Given the description of an element on the screen output the (x, y) to click on. 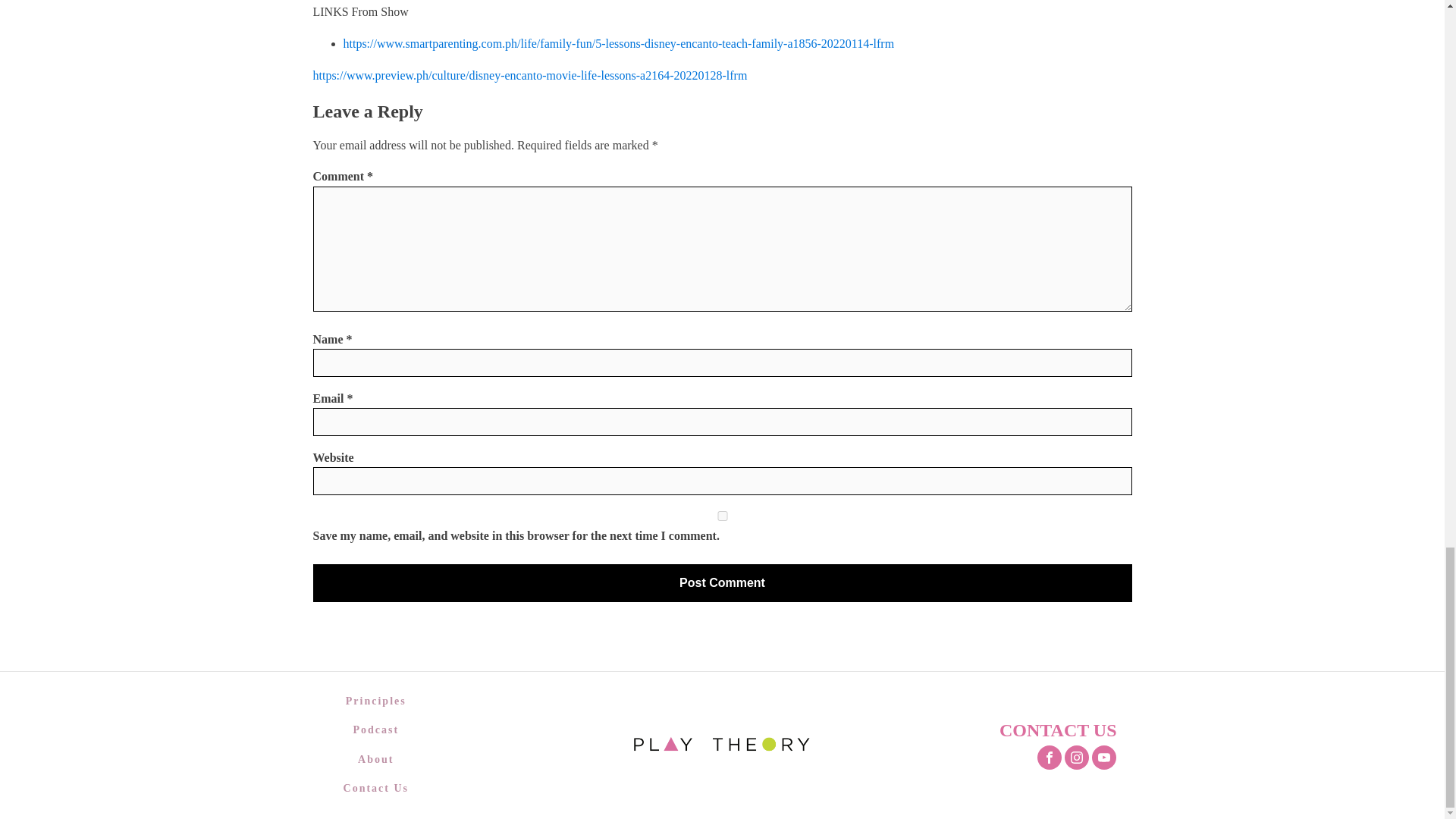
Podcast (377, 729)
Contact Us (377, 788)
Post Comment (722, 582)
Principles (377, 701)
About (377, 759)
yes (722, 515)
Post Comment (722, 582)
